Given the description of an element on the screen output the (x, y) to click on. 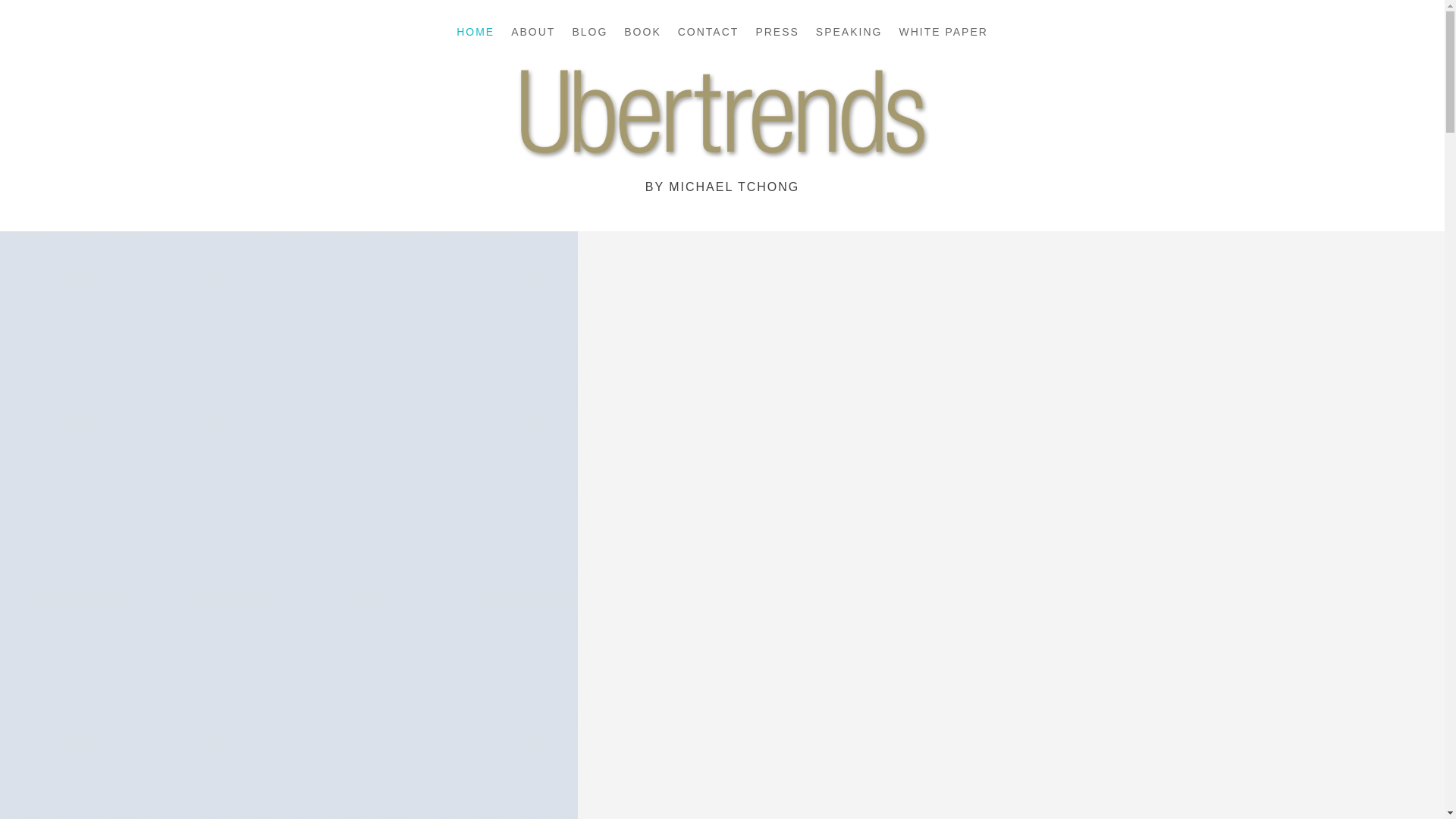
WHITE PAPER (942, 34)
CONTACT (708, 34)
PRESS (776, 34)
BOOK (642, 34)
Ubertrends logo (722, 118)
SPEAKING (848, 34)
HOME (476, 34)
BLOG (589, 34)
ABOUT (532, 34)
